Given the description of an element on the screen output the (x, y) to click on. 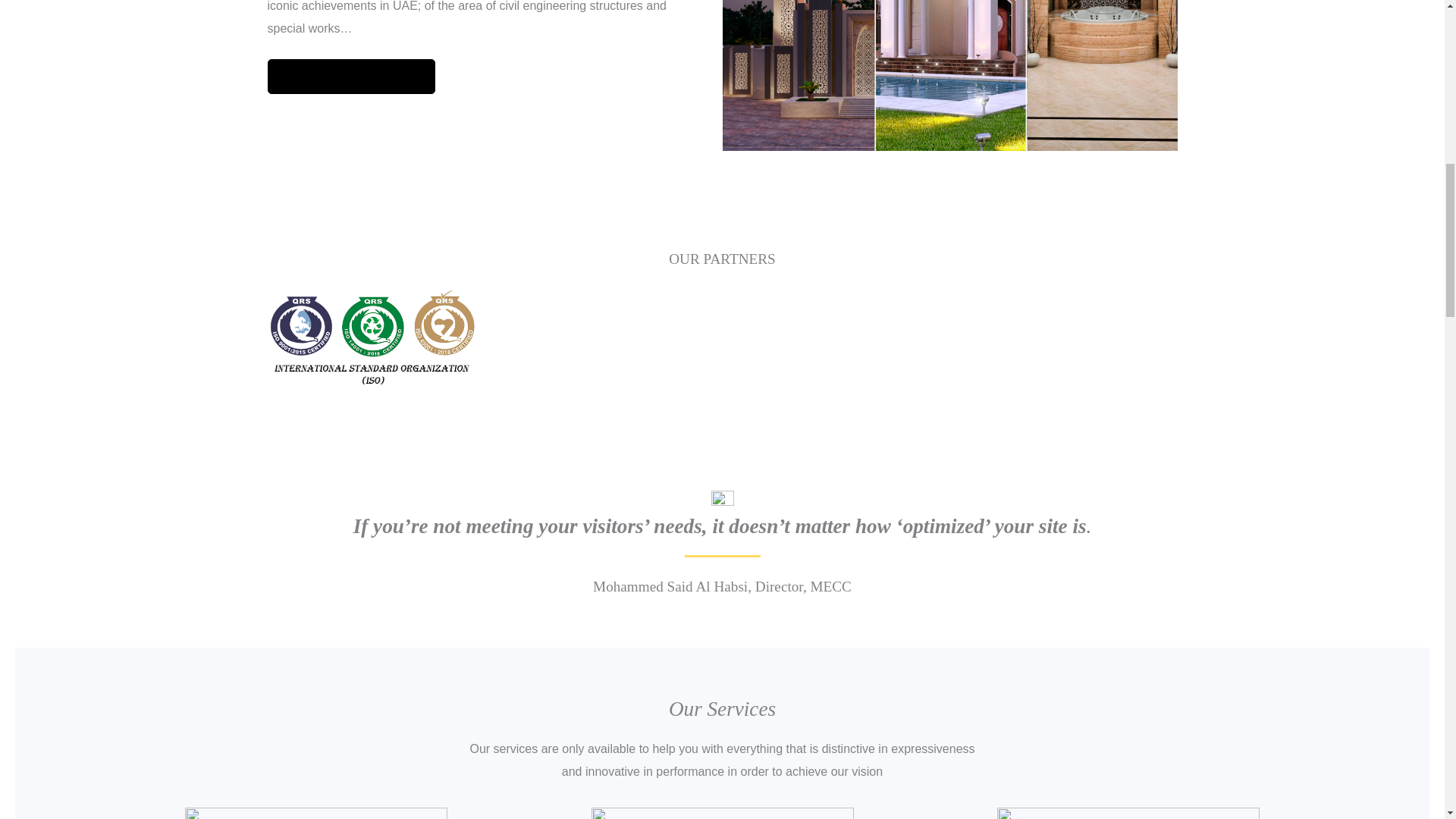
READ FULL STORY (349, 76)
